Given the description of an element on the screen output the (x, y) to click on. 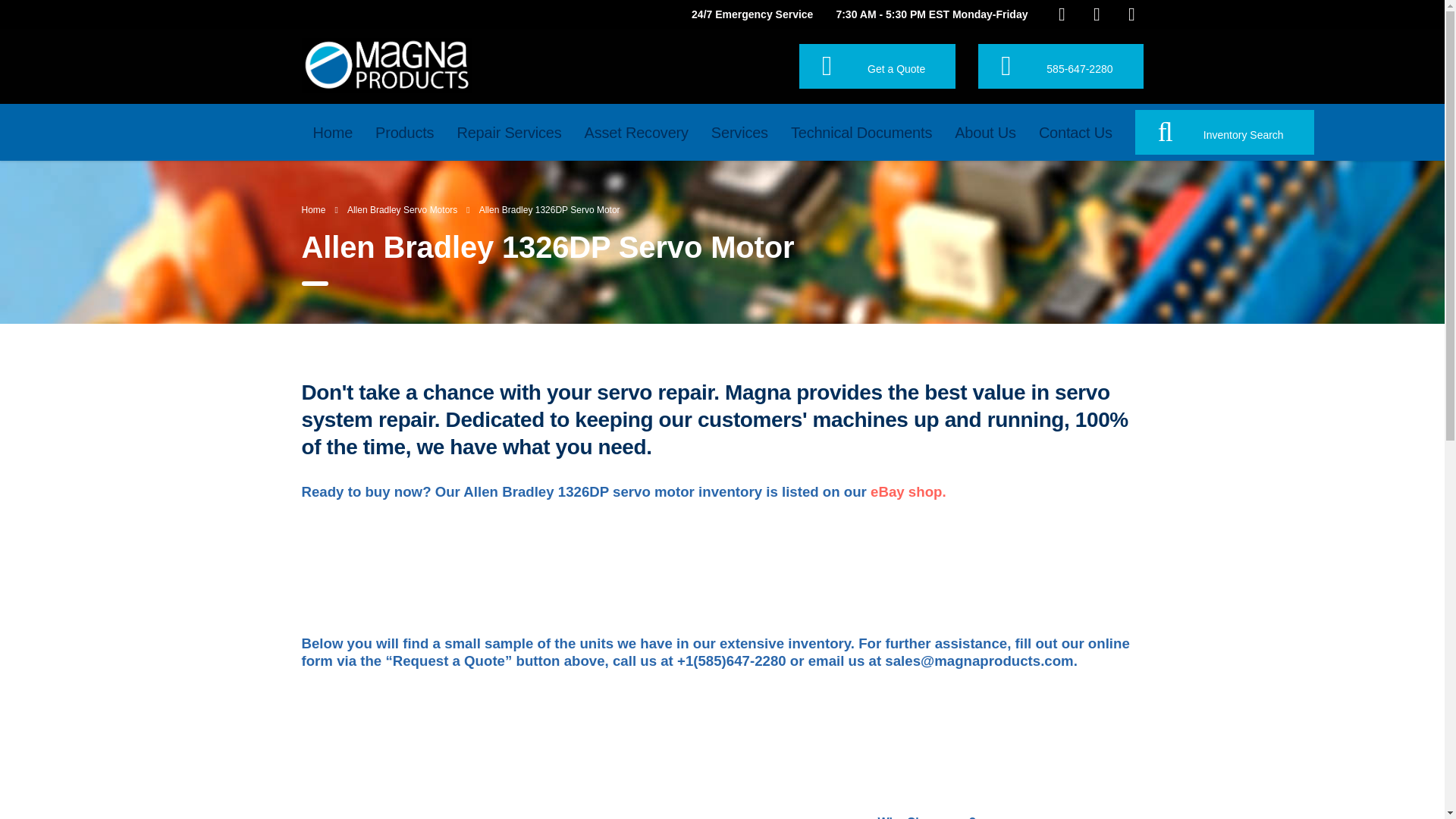
Go to Magna Products. (313, 209)
Home (333, 132)
Magna Products Logo (386, 64)
585-647-2280 (1060, 66)
Social item (1062, 14)
Get a Quote (877, 66)
Go to Allen Bradley Servo Motors. (402, 209)
Social item (1097, 14)
Products (404, 132)
Social item (1131, 14)
